Given the description of an element on the screen output the (x, y) to click on. 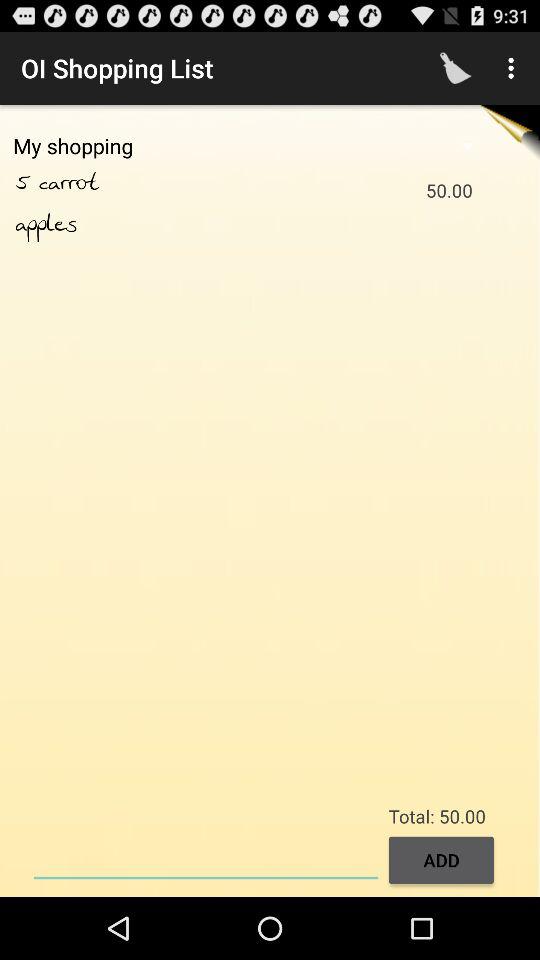
turn off button next to add button (205, 858)
